Given the description of an element on the screen output the (x, y) to click on. 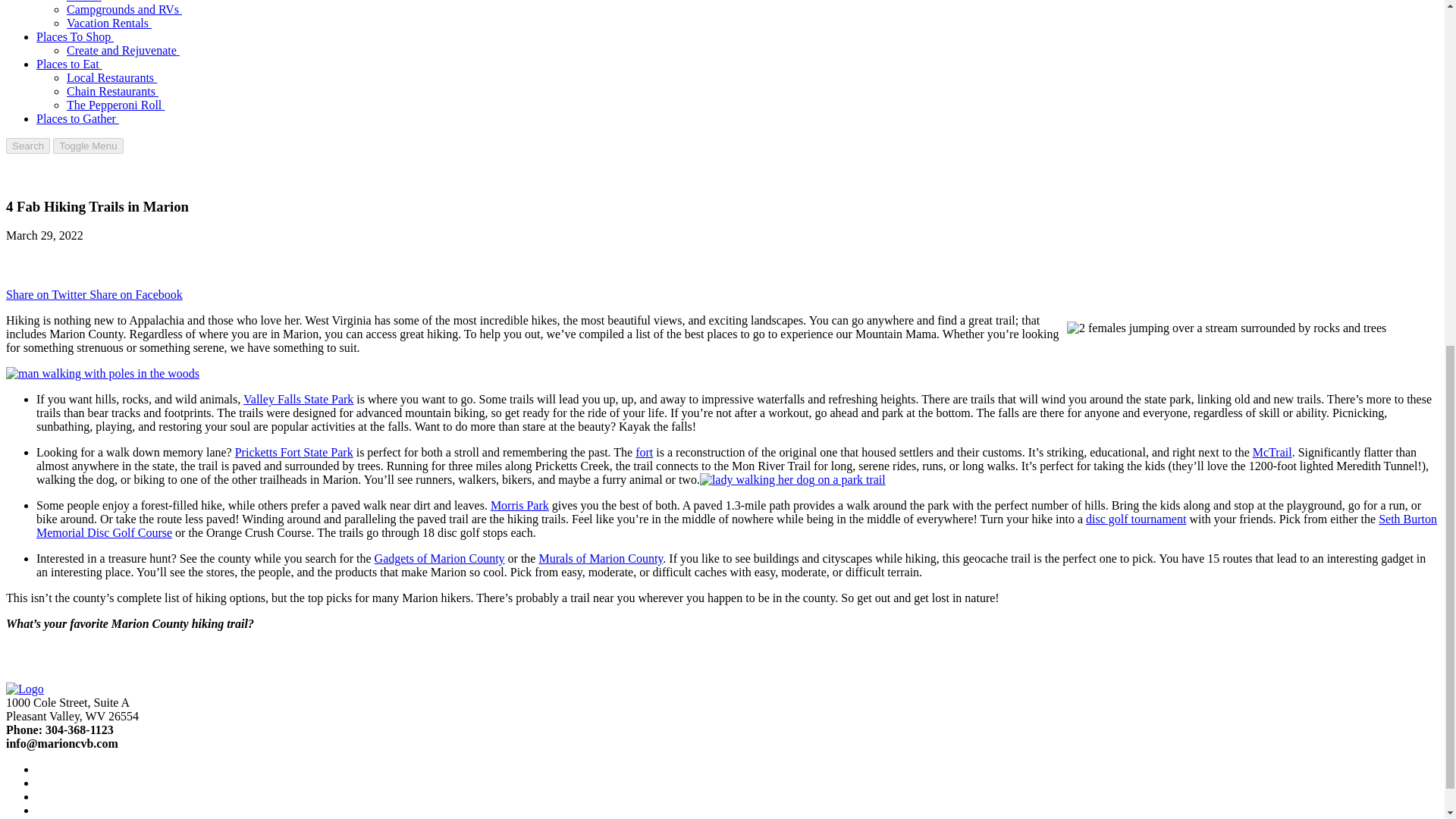
Share on Facebook! (135, 294)
Tweet this! (46, 294)
